Given the description of an element on the screen output the (x, y) to click on. 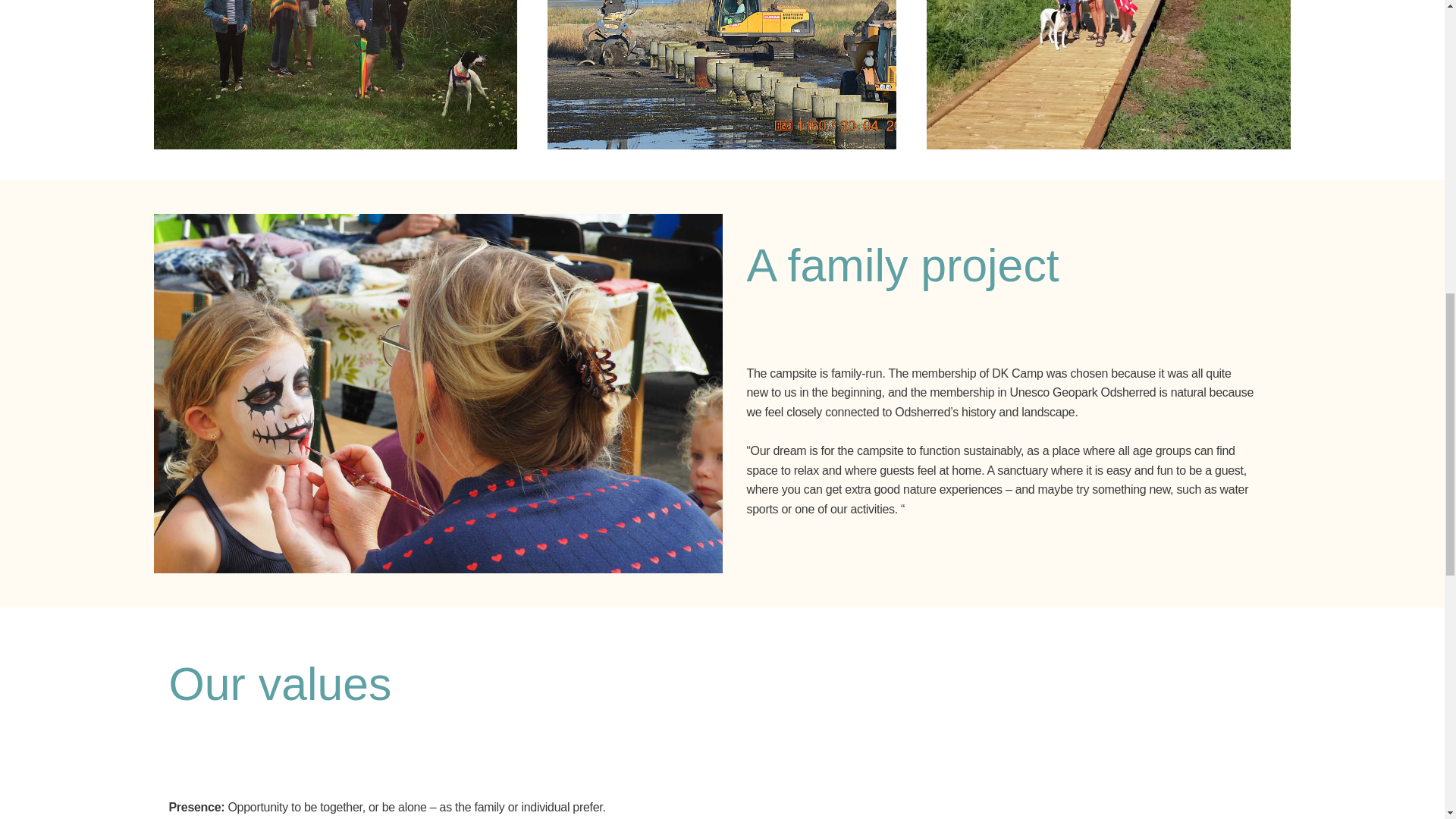
Page 9 (999, 441)
